Given the description of an element on the screen output the (x, y) to click on. 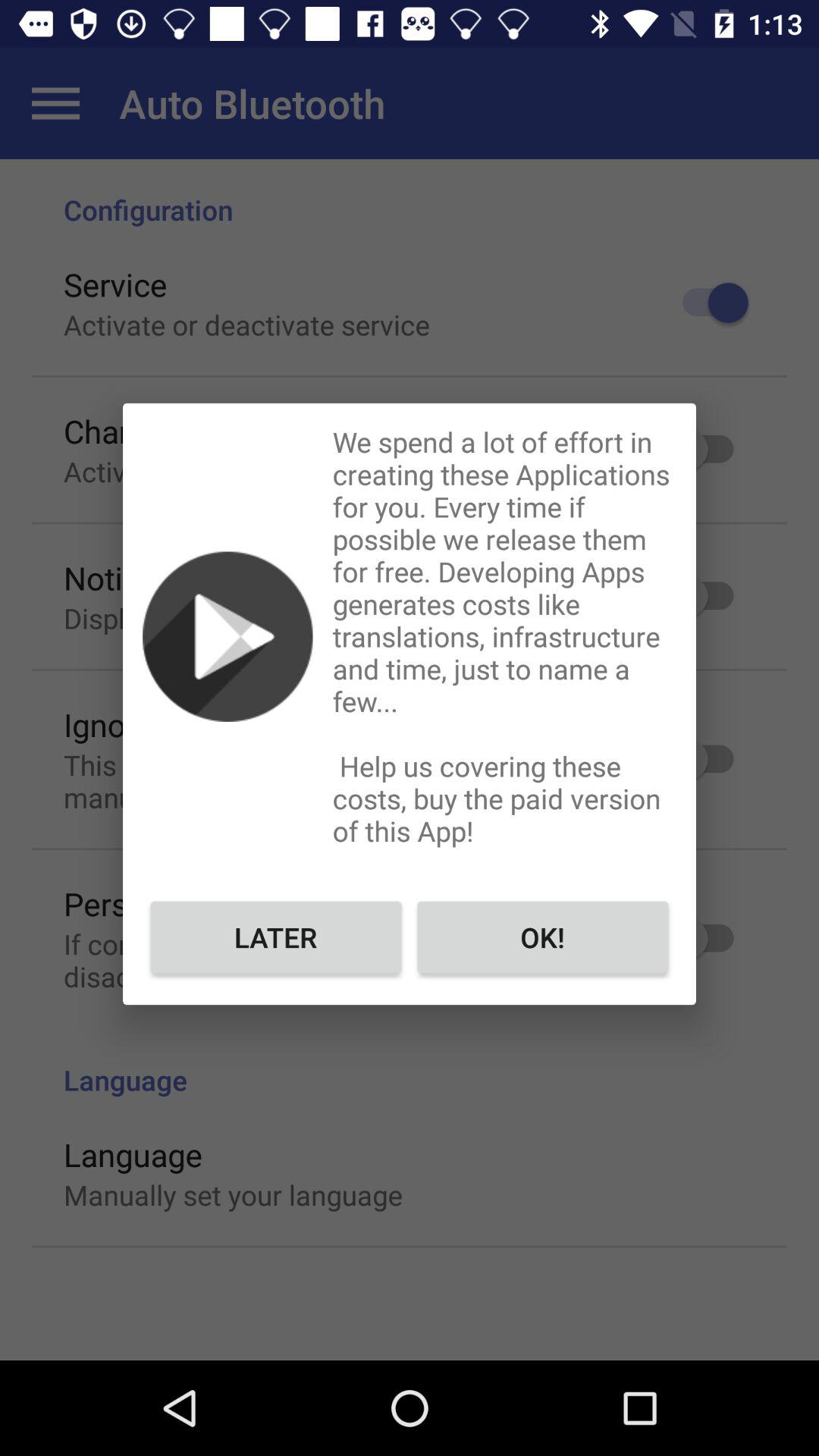
launch app below we spend a (542, 937)
